Given the description of an element on the screen output the (x, y) to click on. 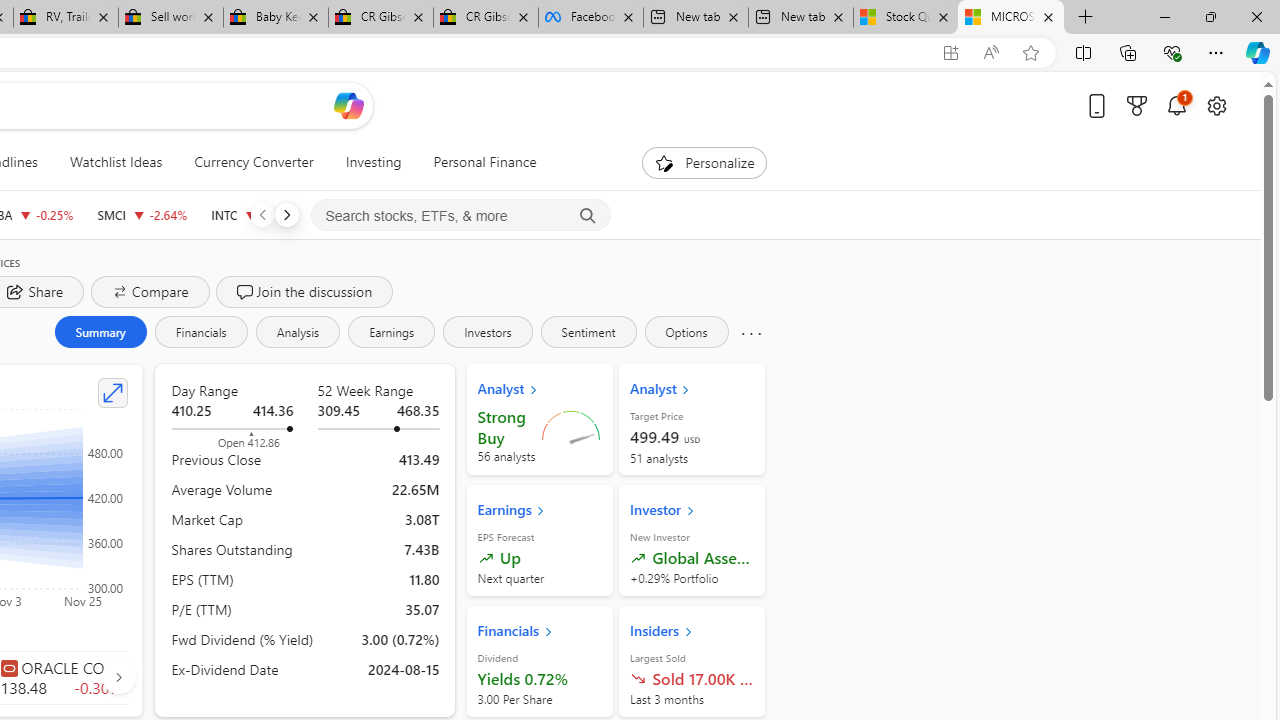
INTC INTEL CORPORATION decrease 20.07 -0.06 -0.30% (254, 214)
Currency Converter (253, 162)
Investing (373, 162)
Financials (200, 331)
Previous (262, 214)
Watchlist Ideas (115, 162)
Personal Finance (484, 162)
Class: card_head_icon_lightMode-DS-EntryPoint1-1 (687, 631)
Earnings (392, 331)
